Given the description of an element on the screen output the (x, y) to click on. 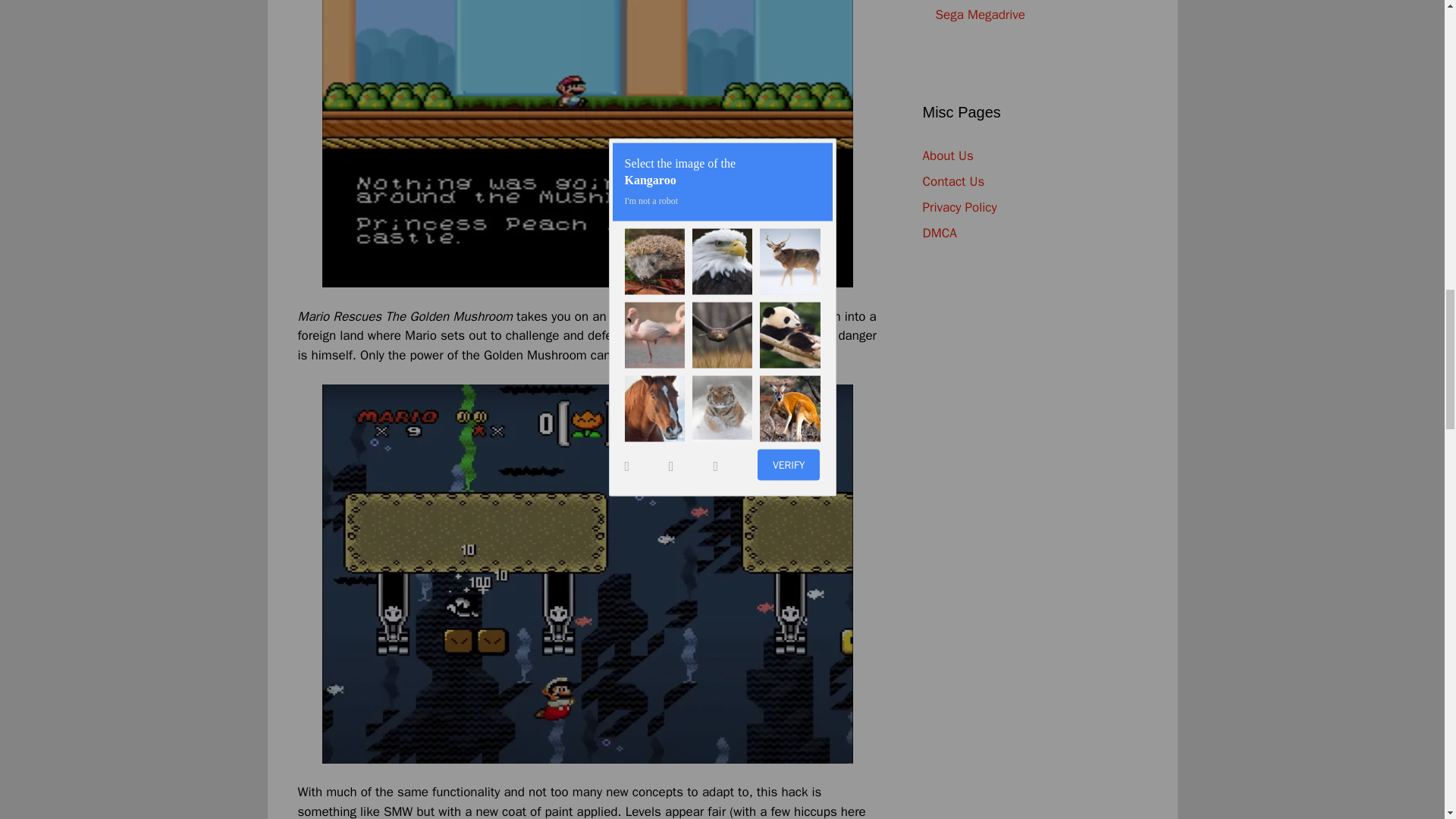
About Us (946, 154)
DMCA (938, 232)
Sega Megadrive (981, 14)
Contact Us (952, 180)
Privacy Policy (958, 206)
